Given the description of an element on the screen output the (x, y) to click on. 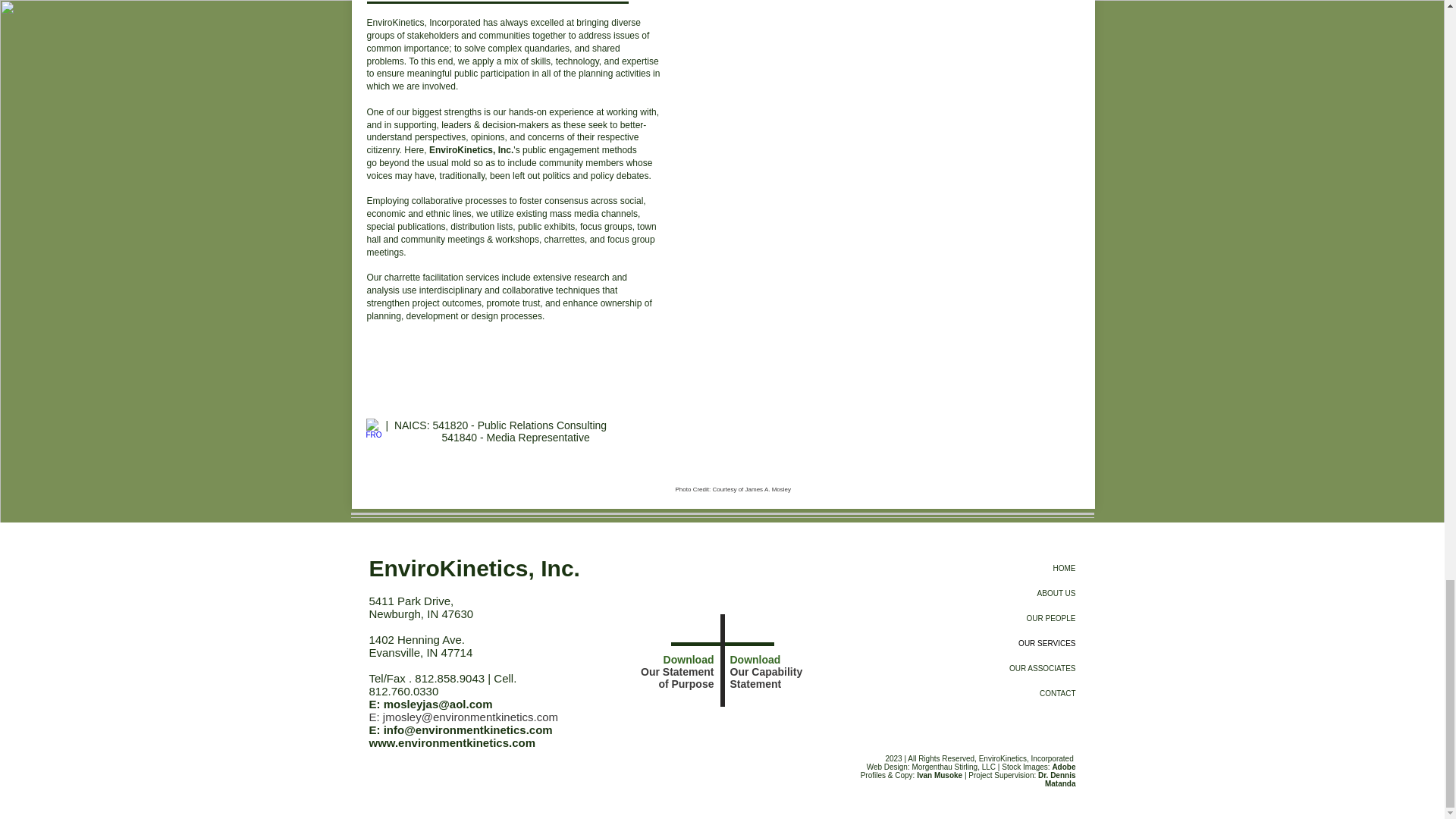
OUR ASSOCIATES (1008, 668)
HOME (1008, 568)
OUR PEOPLE (1008, 618)
CONTACT (1008, 692)
Enviro-kinetics Statement of Purpose.pdf (704, 627)
OUR SERVICES (1008, 643)
ABOUT US (1008, 593)
www.environmentkinetics.com (451, 742)
